Given the description of an element on the screen output the (x, y) to click on. 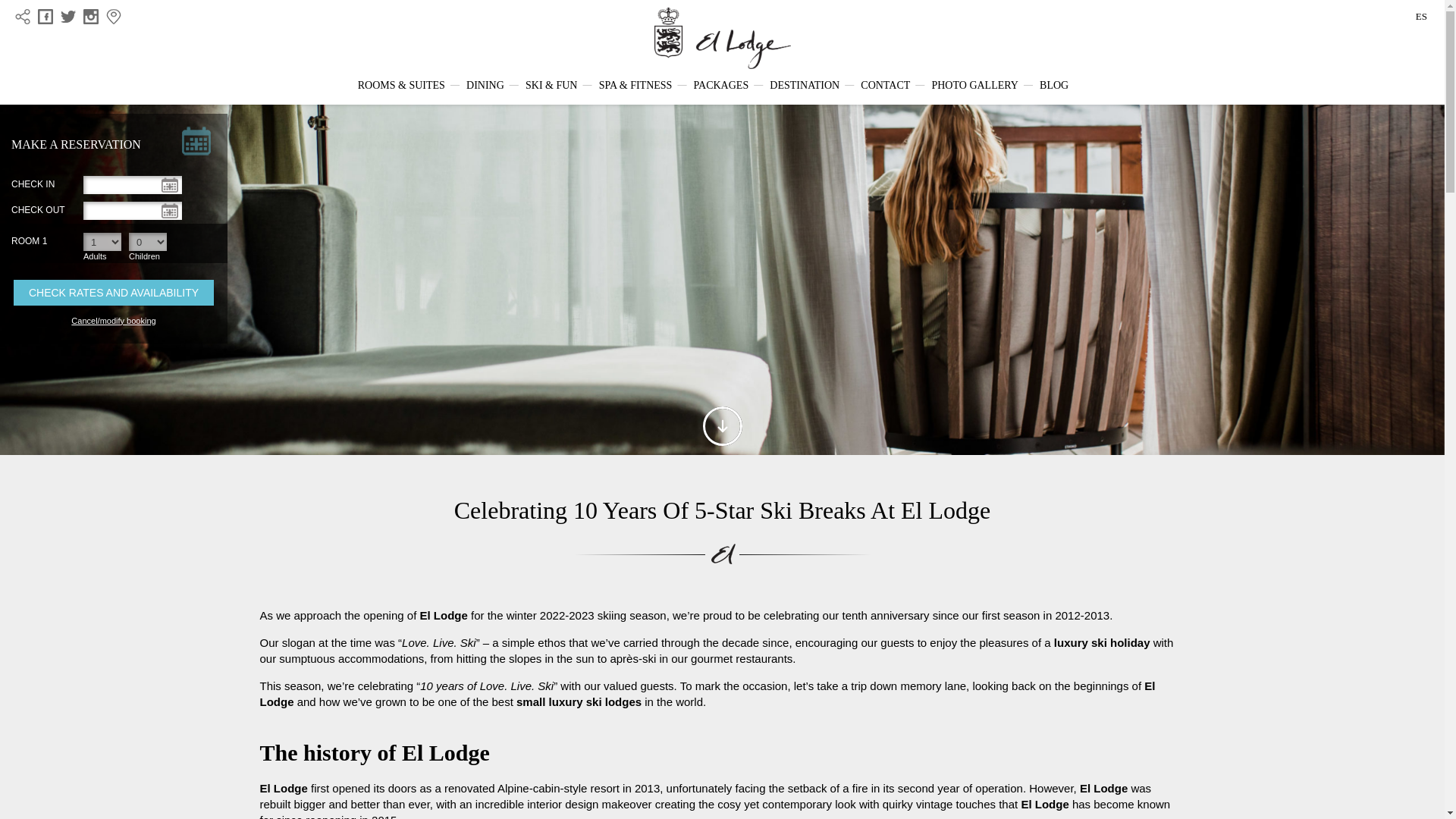
CONTACT (885, 84)
El Lodge (721, 37)
PHOTO GALLERY (974, 84)
DESTINATION (805, 84)
DINING (484, 84)
PACKAGES (721, 84)
Check Rates and Availability (113, 292)
BLOG (1053, 84)
ES (1420, 16)
El Lodge (721, 37)
Check Rates and Availability (113, 292)
